Given the description of an element on the screen output the (x, y) to click on. 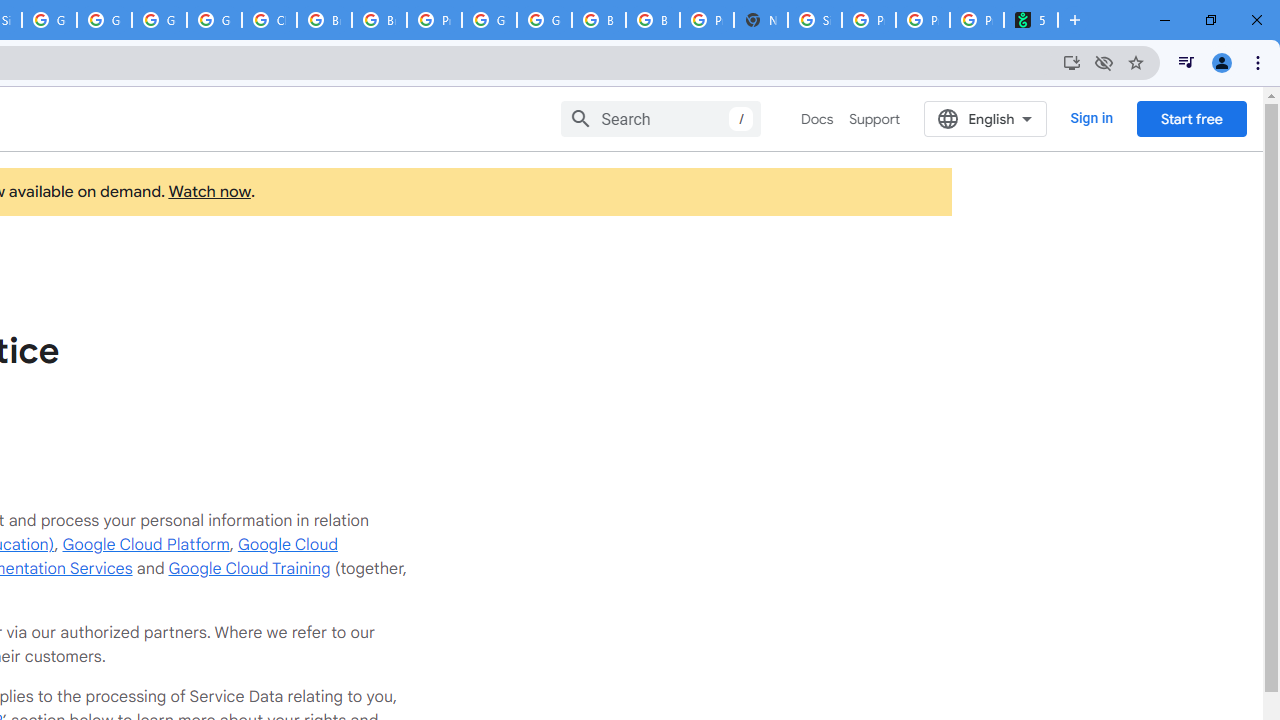
Browse Chrome as a guest - Computer - Google Chrome Help (598, 20)
Google Cloud Platform (489, 20)
New Tab (760, 20)
Install Google Cloud (1071, 62)
Docs (817, 119)
Google Cloud Platform (145, 544)
Start free (1191, 118)
